Given the description of an element on the screen output the (x, y) to click on. 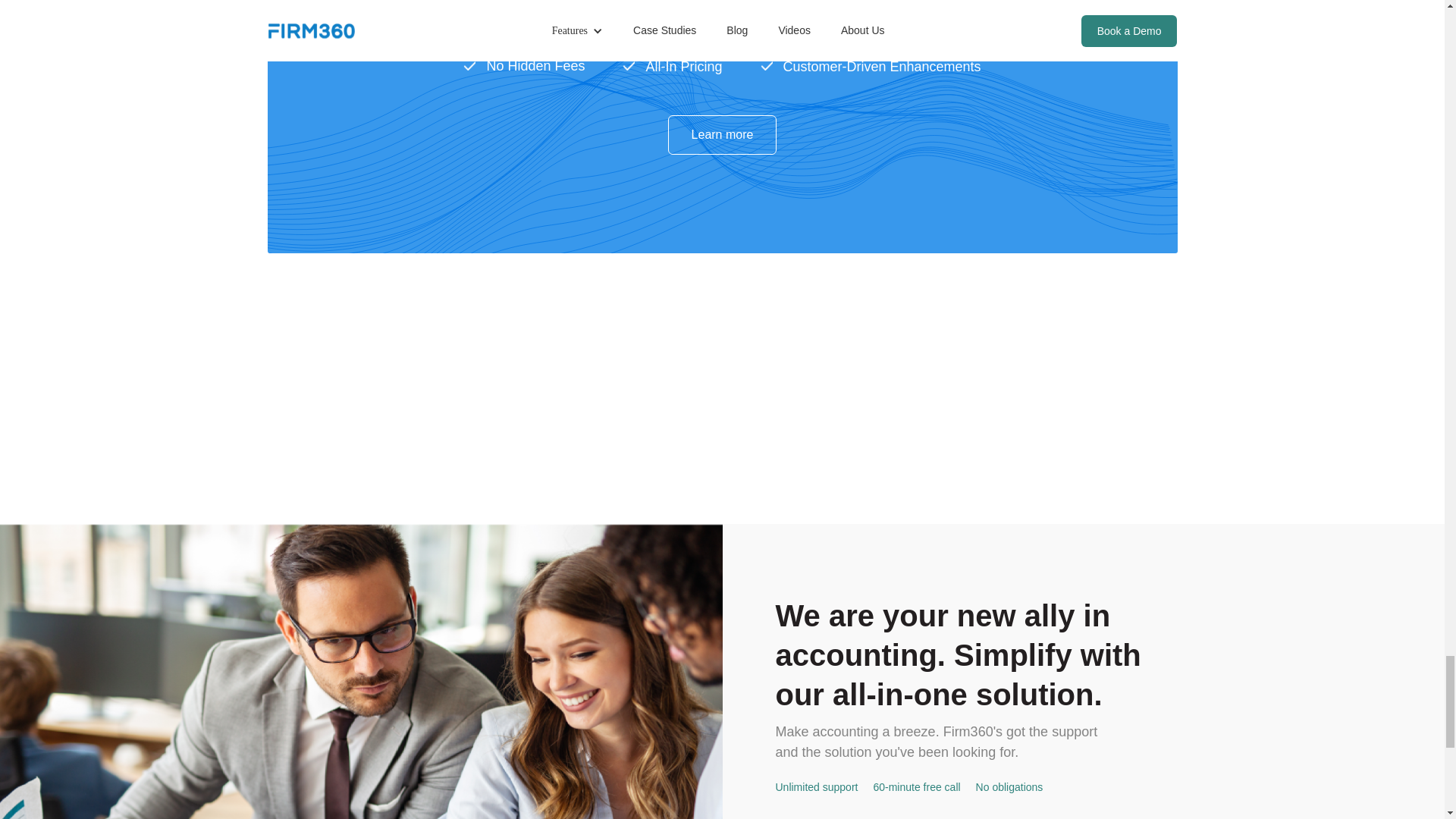
Learn more (722, 134)
